Given the description of an element on the screen output the (x, y) to click on. 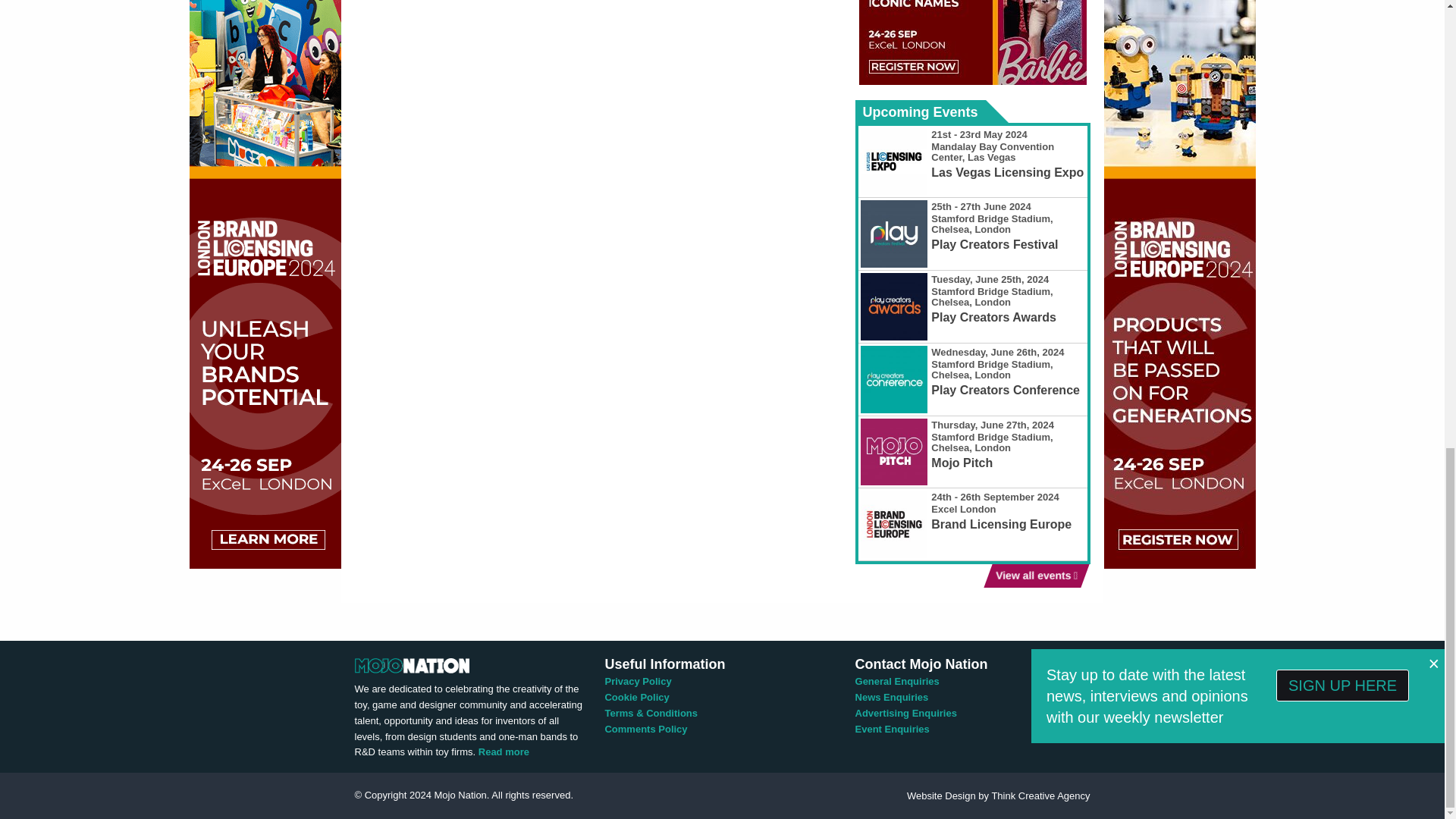
Mojo Nation Home (411, 665)
All events (1032, 576)
